Given the description of an element on the screen output the (x, y) to click on. 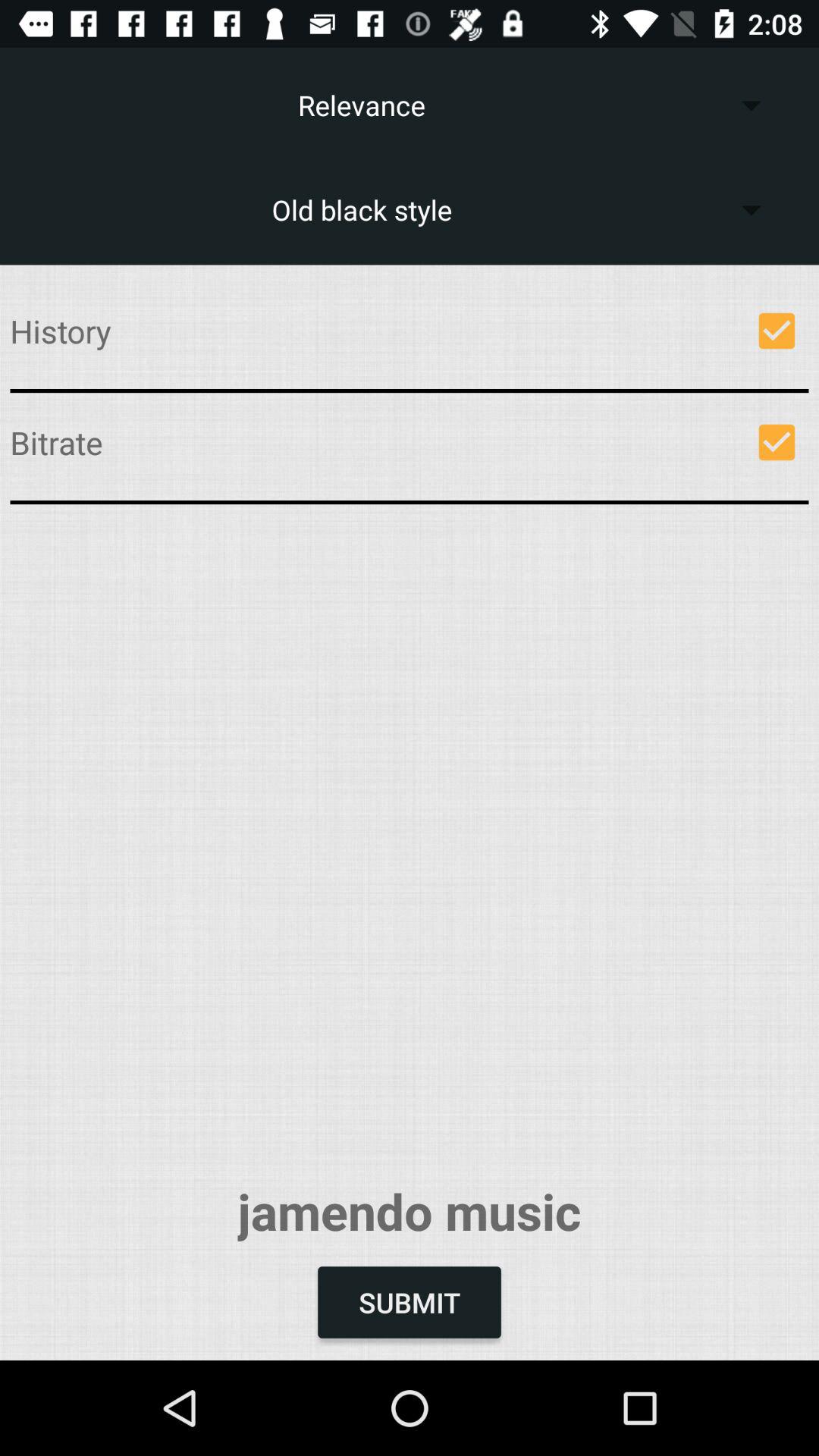
choose item below jamendo music icon (409, 1302)
